Given the description of an element on the screen output the (x, y) to click on. 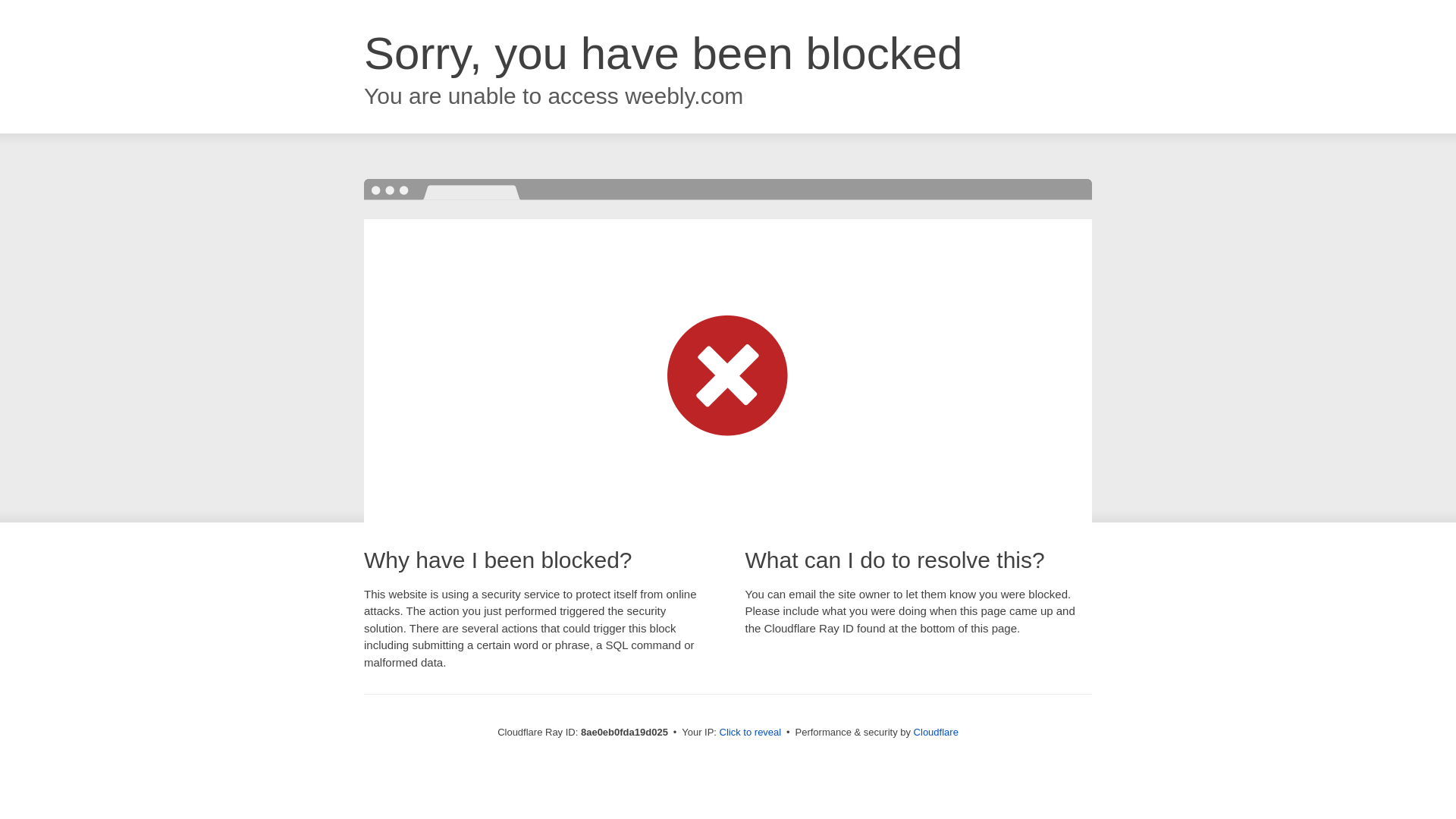
Click to reveal (750, 732)
Cloudflare (936, 731)
